Given the description of an element on the screen output the (x, y) to click on. 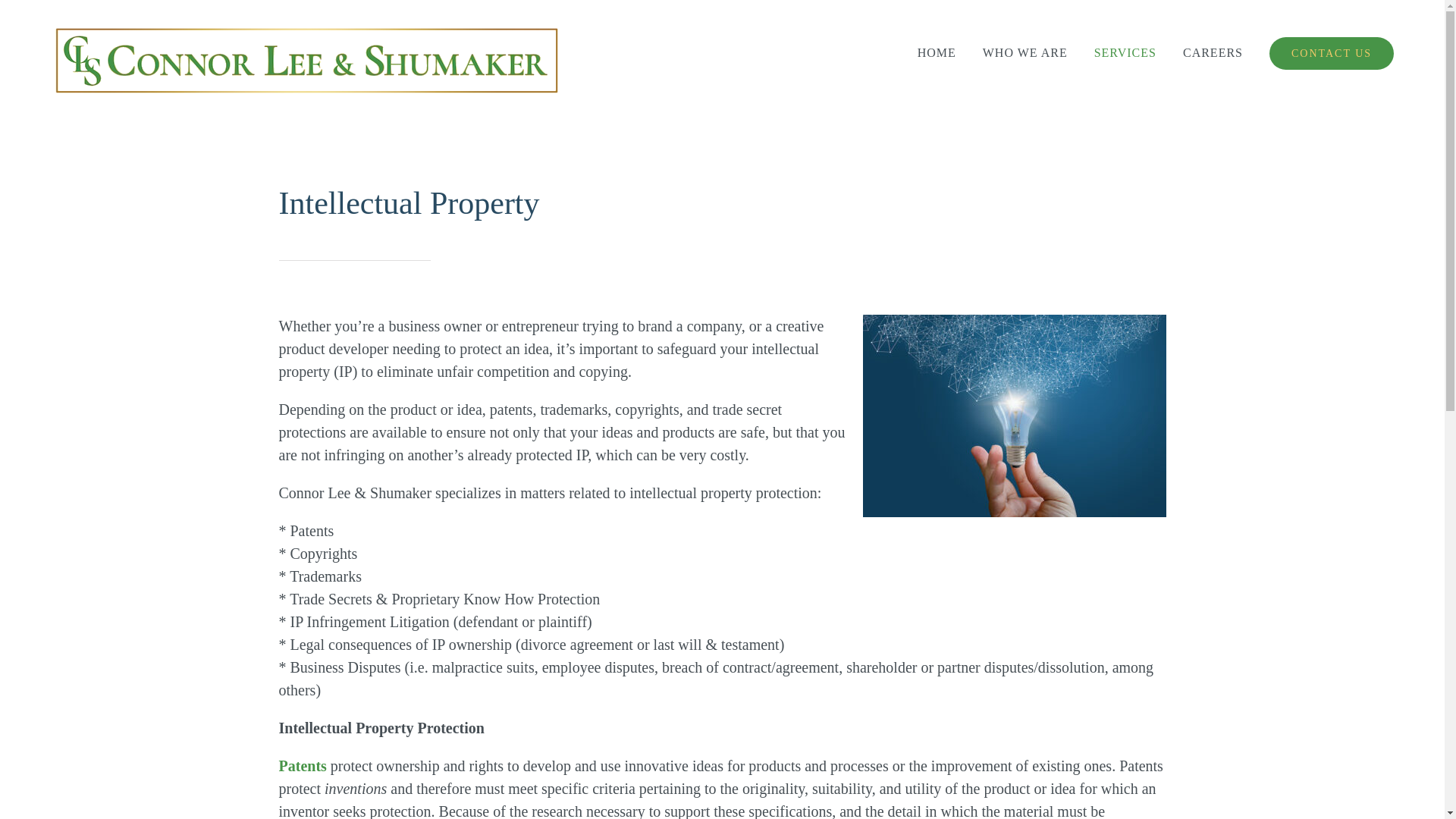
CONTACT US (1331, 53)
Patents (302, 765)
